Given the description of an element on the screen output the (x, y) to click on. 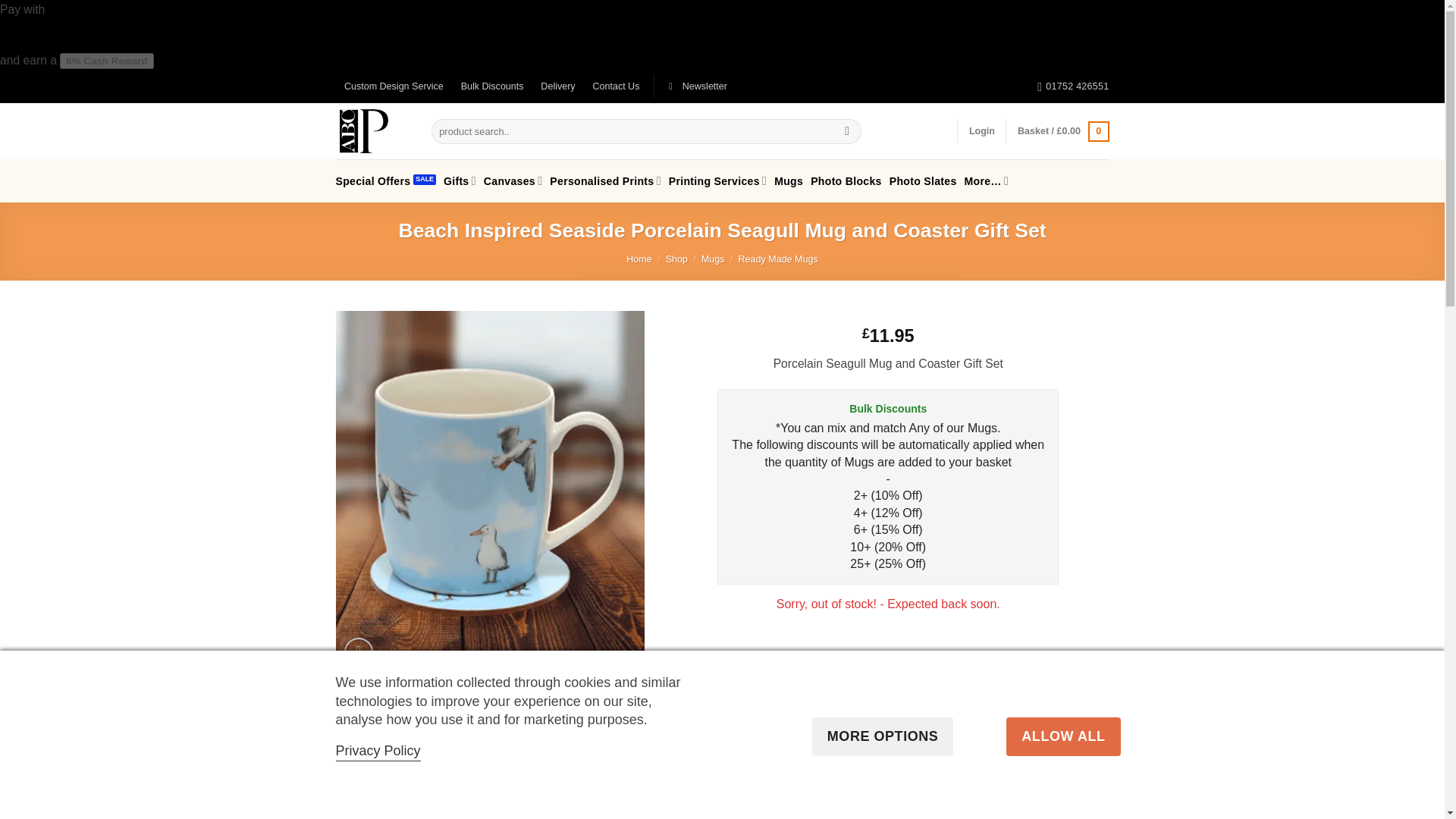
Delivery (557, 86)
Custom Design Service (392, 86)
Gifts (460, 180)
Search (846, 131)
01752 426551 (1072, 86)
Special Offers (384, 180)
01752 426551 (1072, 86)
Basket (1063, 131)
ABC Prints - Personalised Printed Gifts (370, 130)
Newsletter (698, 86)
Login (981, 130)
Login (981, 130)
Subscribe to Our Newsletter (698, 86)
Bulk Discounts (491, 86)
Contact Us (615, 86)
